Given the description of an element on the screen output the (x, y) to click on. 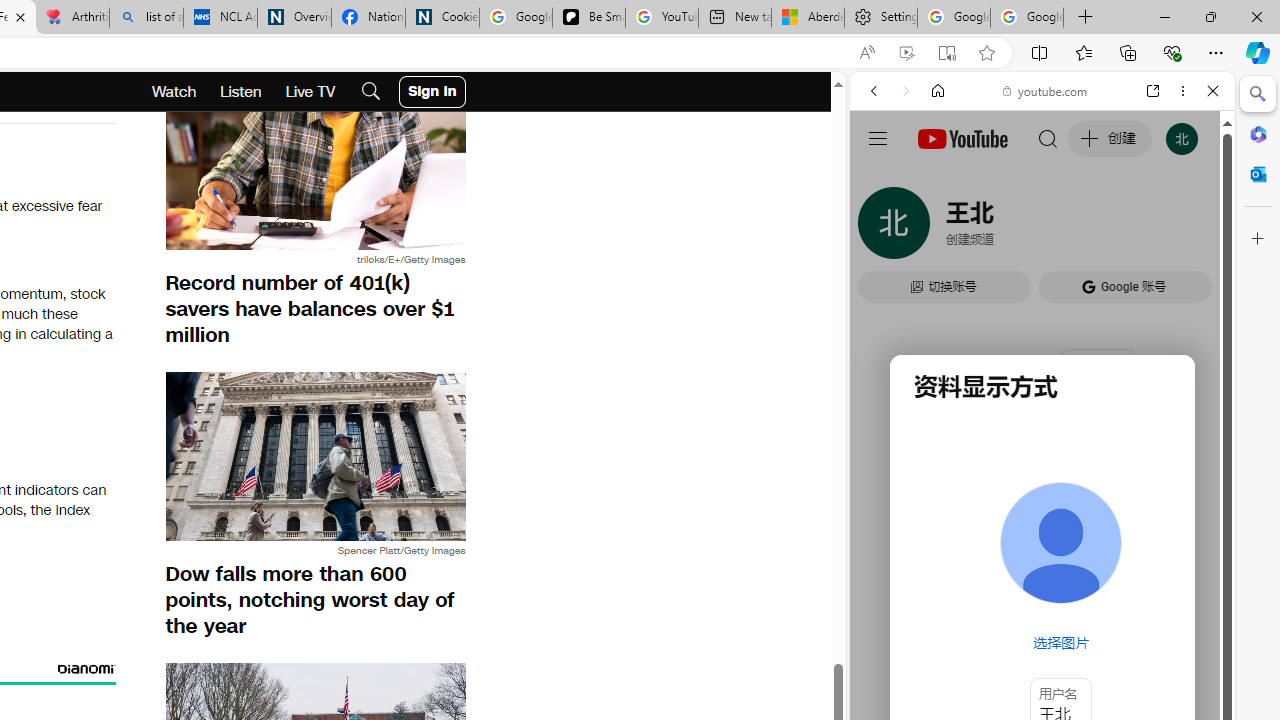
Aberdeen, Hong Kong SAR hourly forecast | Microsoft Weather (807, 17)
Cookies (441, 17)
Music (1042, 543)
Arthritis: Ask Health Professionals (71, 17)
Settings (880, 17)
youtube.com (1046, 90)
Search Filter, VIDEOS (1006, 228)
IMAGES (939, 228)
